Given the description of an element on the screen output the (x, y) to click on. 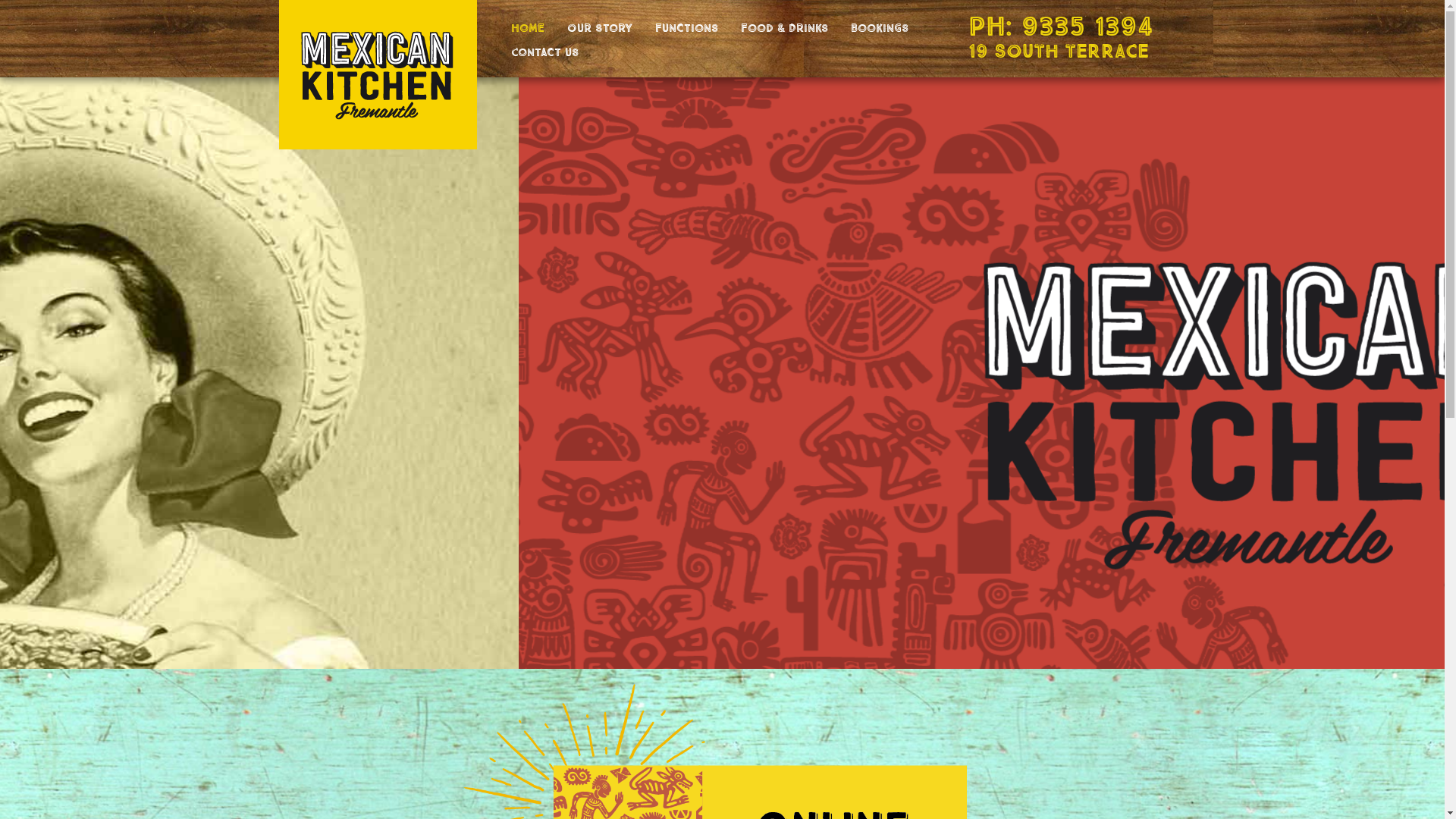
Contact us Element type: text (543, 50)
Our Story Element type: text (599, 26)
Food & Drinks Element type: text (784, 26)
Functions Element type: text (685, 26)
Home Element type: text (526, 26)
Bookings Element type: text (878, 26)
